Given the description of an element on the screen output the (x, y) to click on. 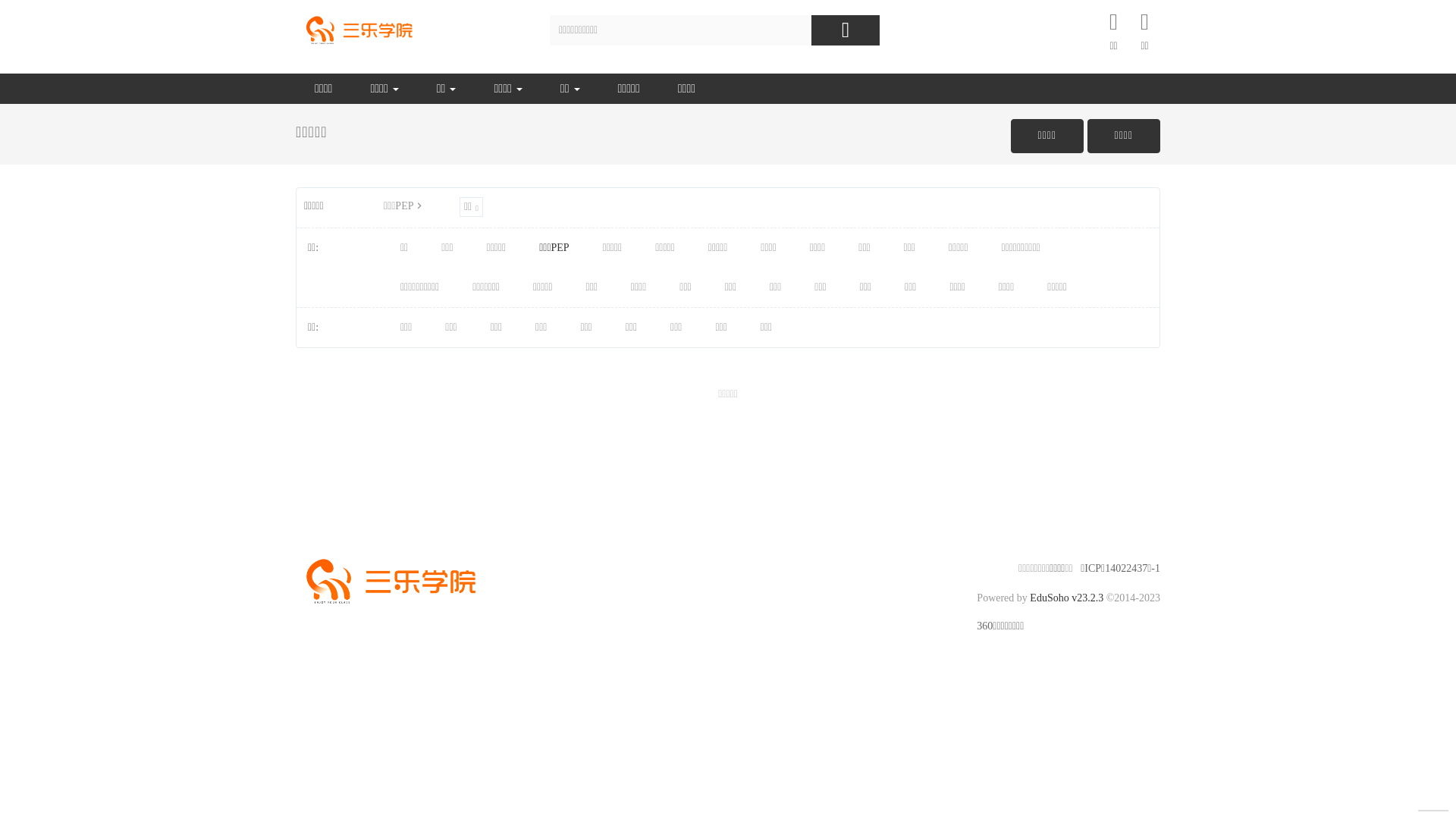
EduSoho v23.2.3 Element type: text (1066, 597)
